Given the description of an element on the screen output the (x, y) to click on. 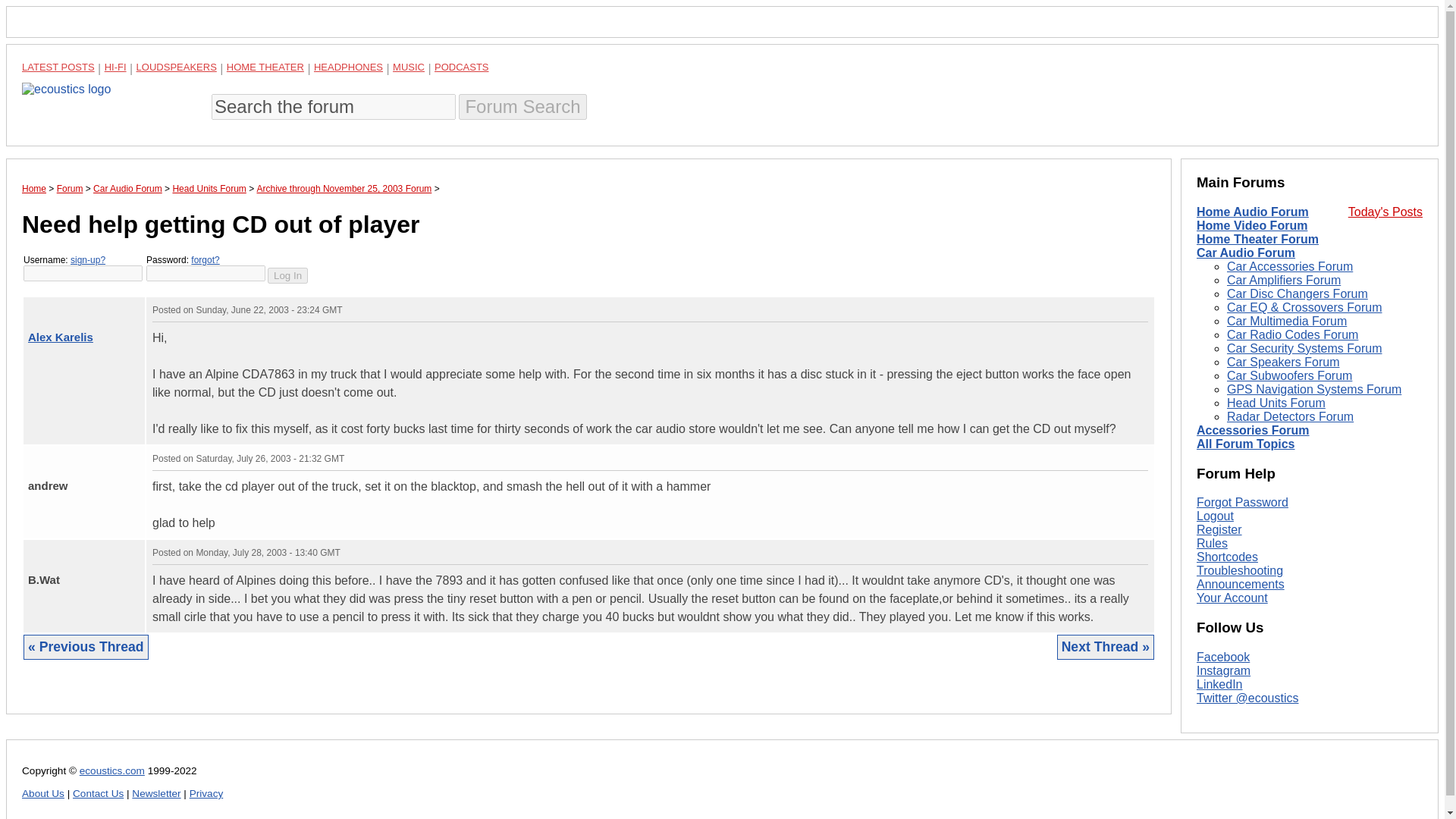
Search (522, 106)
Alex Karelis (60, 336)
link to this post (68, 307)
Forum (69, 188)
next post (41, 307)
previous post (41, 549)
Log In (287, 275)
HOME THEATER (265, 66)
MUSIC (409, 66)
previous post (41, 455)
Edit Post (1140, 551)
sign-up? (86, 259)
HEADPHONES (348, 66)
link to this post (76, 455)
Car Audio Forum (127, 188)
